Given the description of an element on the screen output the (x, y) to click on. 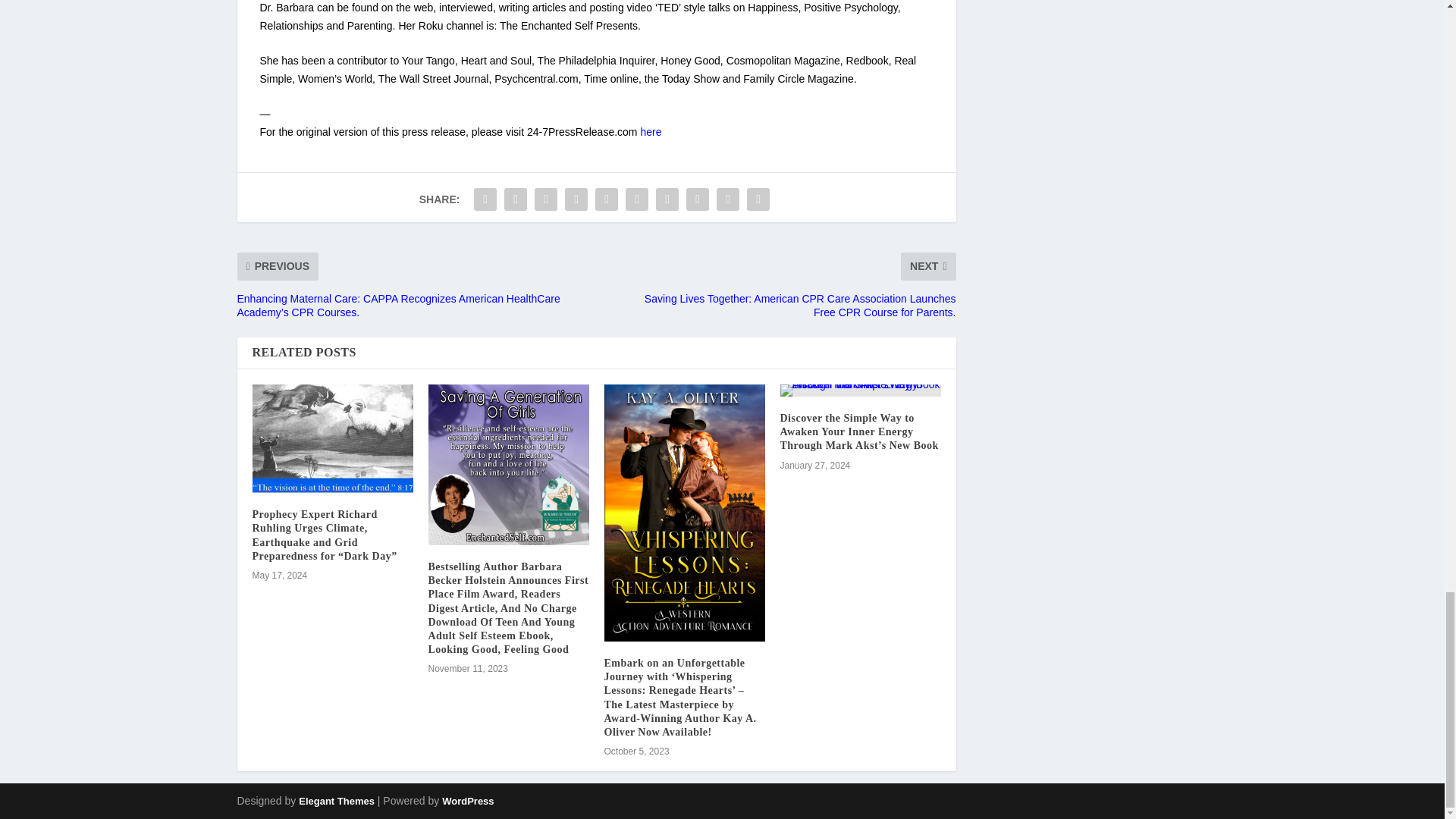
Premium WordPress Themes (336, 800)
here (650, 132)
